Given the description of an element on the screen output the (x, y) to click on. 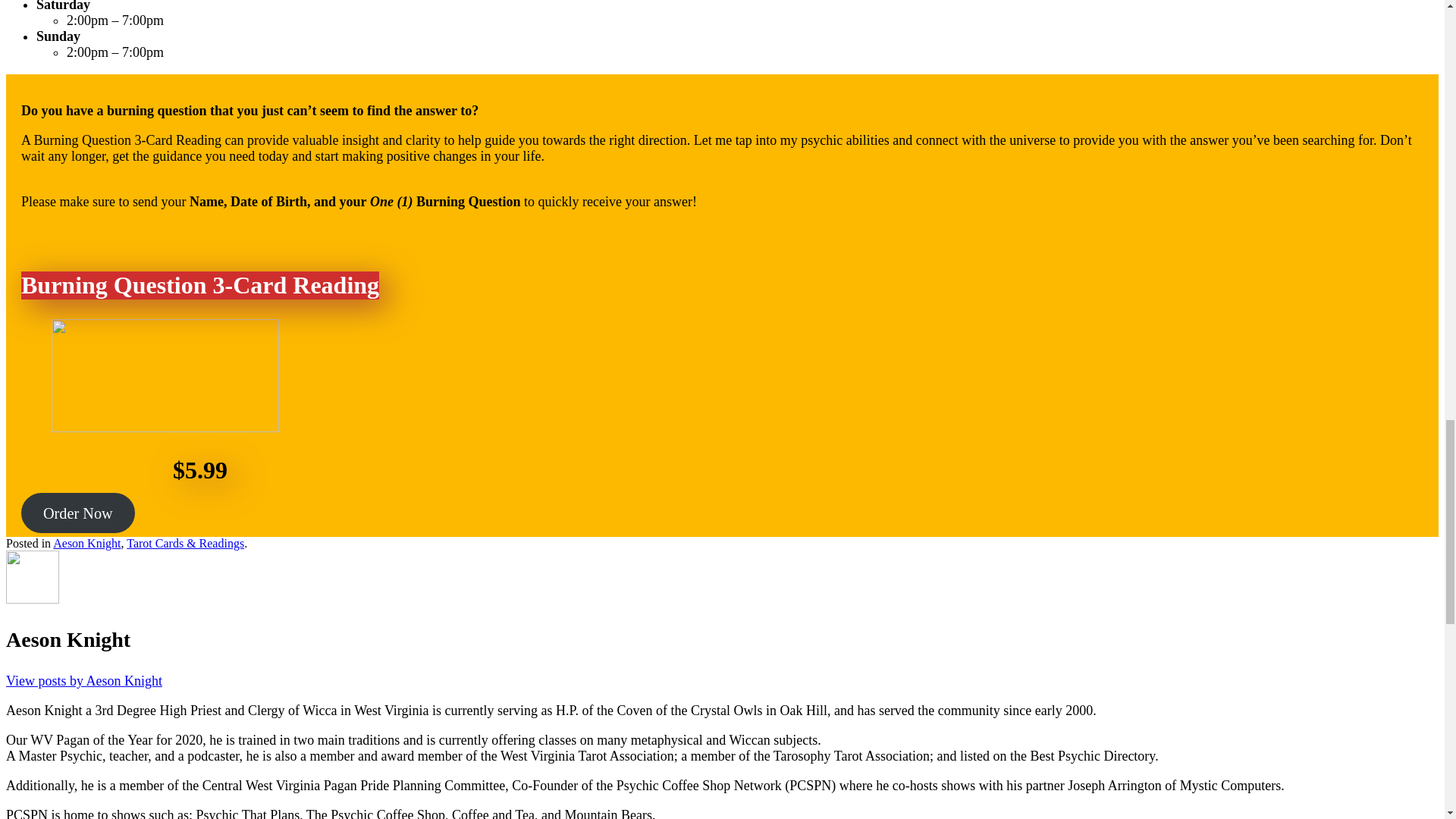
Order Now (78, 513)
Aeson Knight (86, 543)
View posts by Aeson Knight (83, 680)
